Given the description of an element on the screen output the (x, y) to click on. 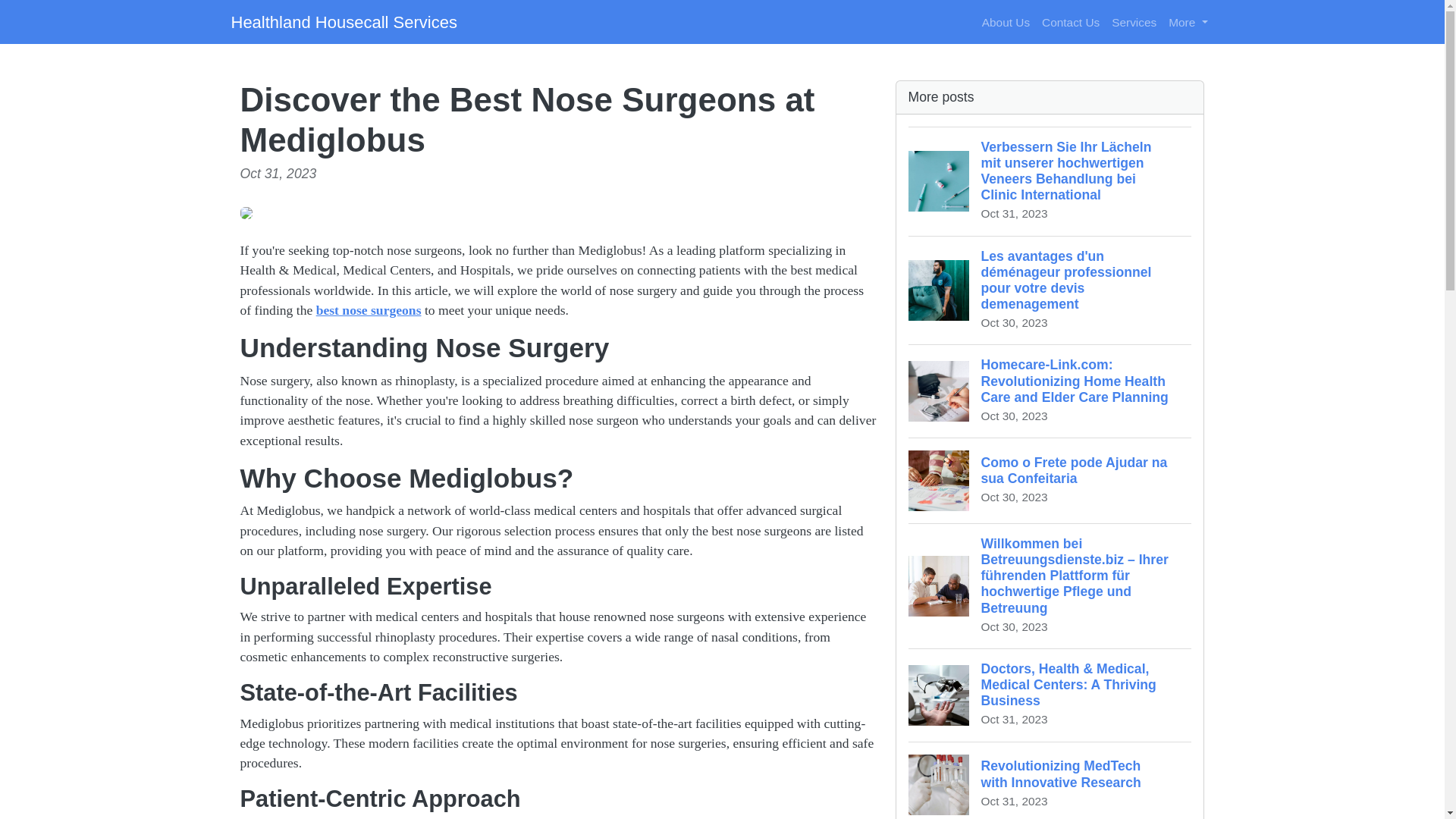
About Us (1005, 21)
Services (1133, 21)
best nose surgeons (368, 309)
Healthland Housecall Services (343, 21)
Contact Us (1050, 480)
More (1070, 21)
